Given the description of an element on the screen output the (x, y) to click on. 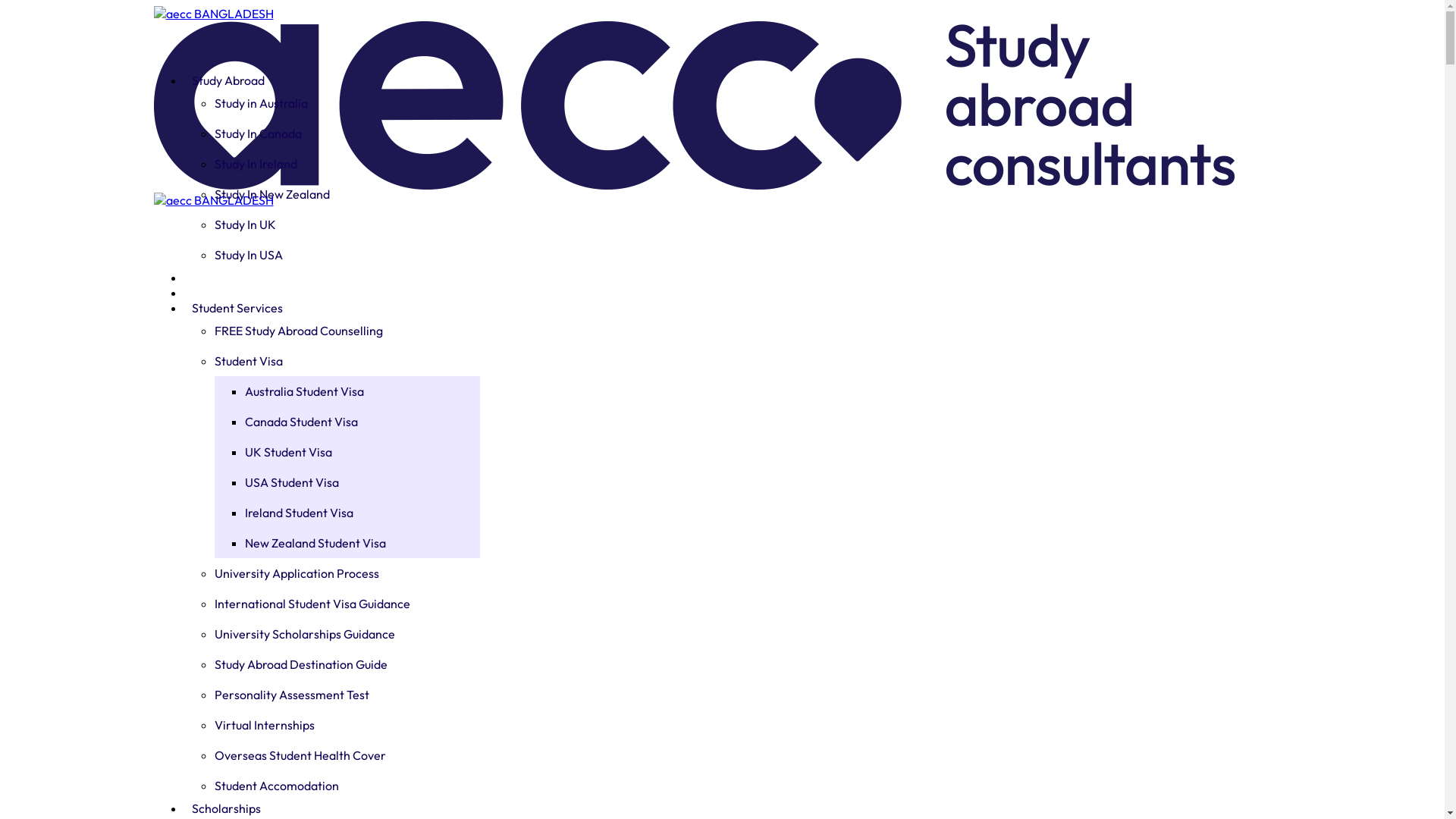
Student Visa Element type: text (330, 360)
UK Student Visa Element type: text (361, 451)
Student Services Element type: text (236, 307)
Personality Assessment Test Element type: text (330, 694)
Study In Canada Element type: text (330, 133)
Study Abroad Element type: text (227, 79)
New Zealand Student Visa Element type: text (361, 542)
Student Accomodation Element type: text (330, 785)
University Scholarships Guidance Element type: text (330, 633)
Study In USA Element type: text (330, 254)
FREE Study Abroad Counselling Element type: text (330, 330)
International Student Visa Guidance Element type: text (330, 603)
Canada Student Visa Element type: text (361, 421)
Study in Australia Element type: text (330, 102)
Study In New Zealand Element type: text (330, 193)
Scholarships Element type: text (225, 807)
Study In UK Element type: text (330, 224)
Australia Student Visa Element type: text (361, 391)
Virtual Internships Element type: text (330, 724)
Overseas Student Health Cover Element type: text (330, 755)
University Application Process Element type: text (330, 573)
Study Abroad Destination Guide Element type: text (330, 664)
Ireland Student Visa Element type: text (361, 512)
Study In Ireland Element type: text (330, 163)
USA Student Visa Element type: text (361, 482)
